Given the description of an element on the screen output the (x, y) to click on. 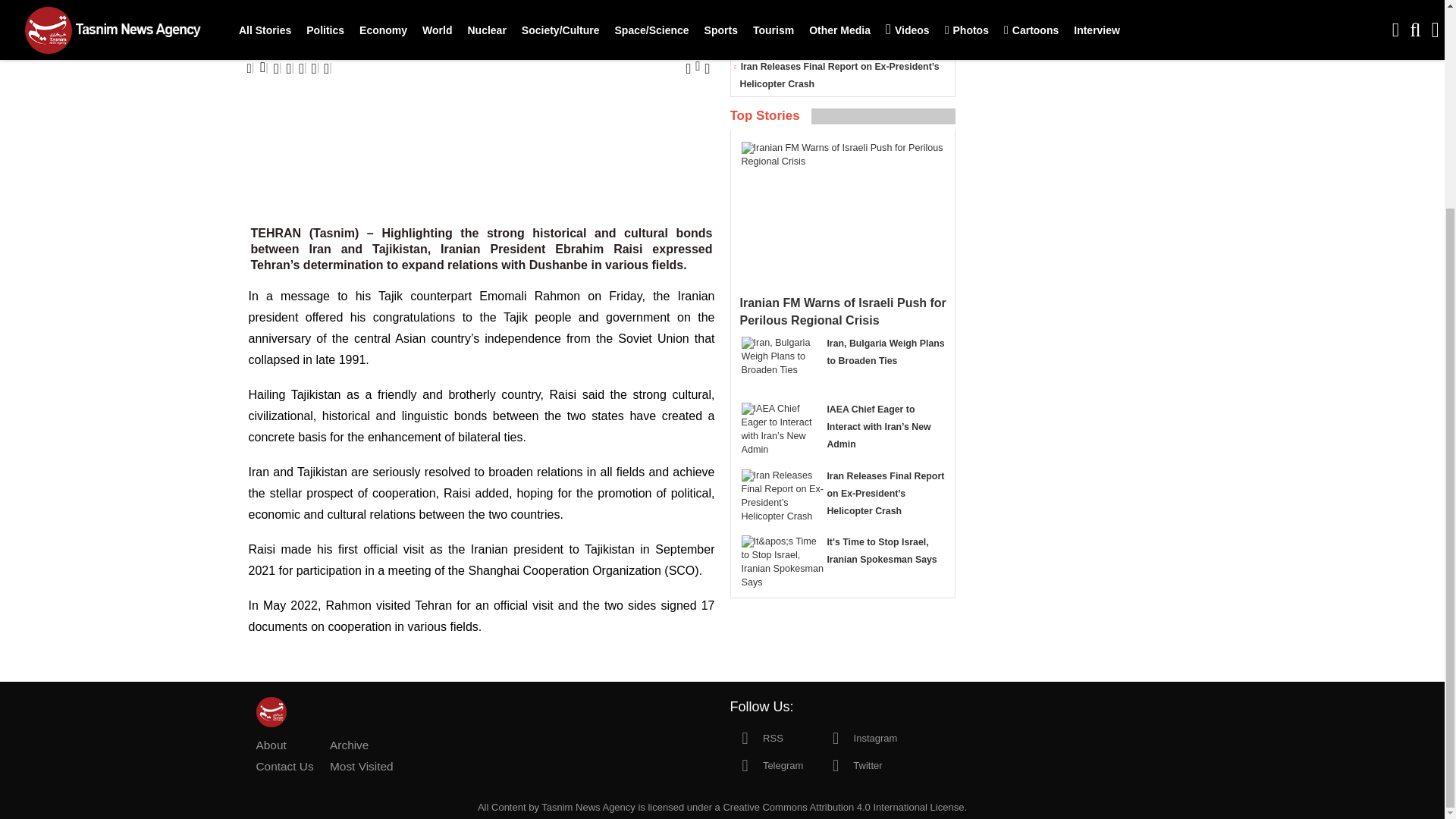
Instagram (858, 736)
Telegram (766, 764)
Twitter (851, 764)
RSS (756, 736)
